Given the description of an element on the screen output the (x, y) to click on. 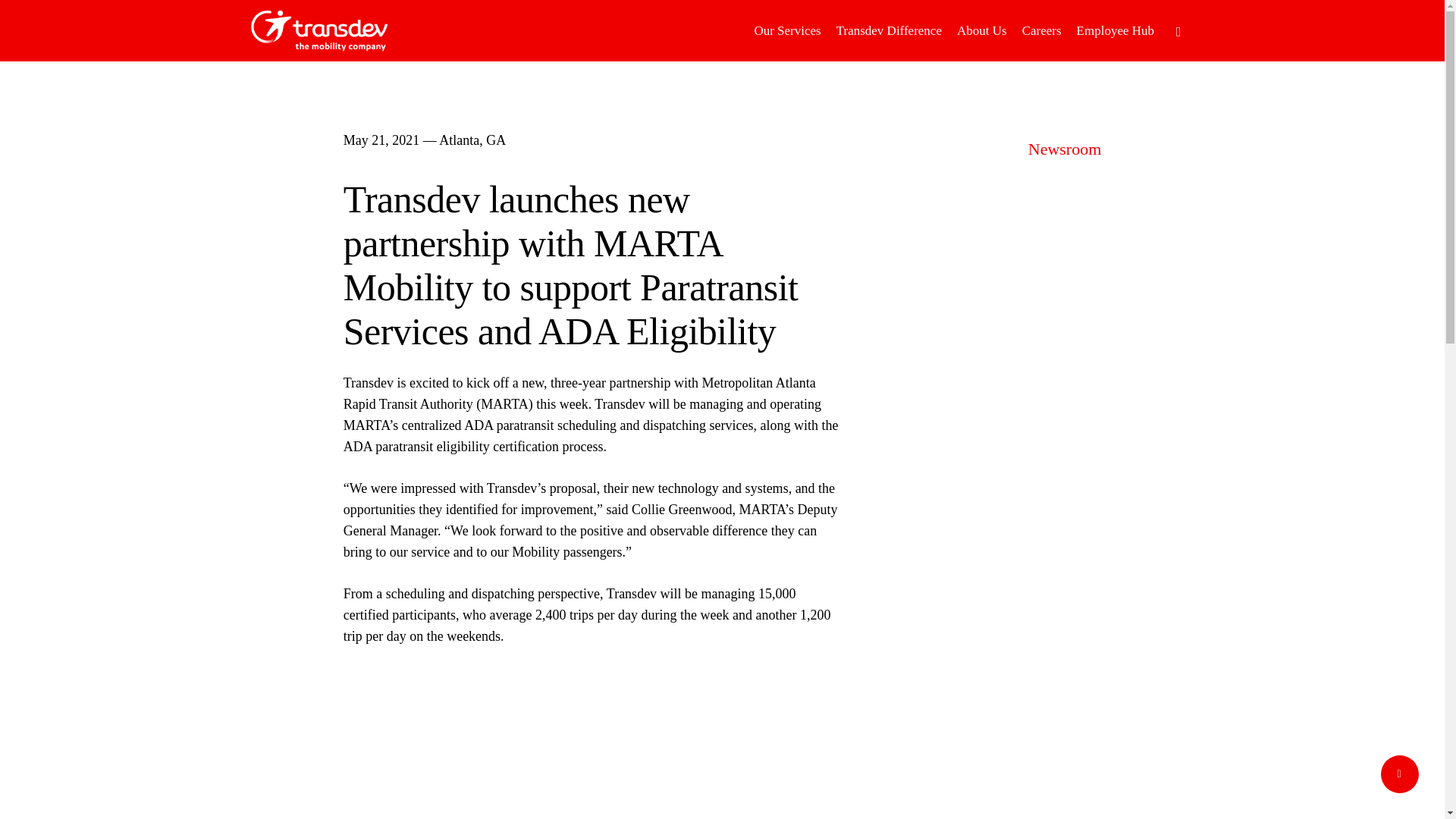
Our Services (786, 31)
Employee Hub (1114, 31)
Newsroom (1064, 148)
Careers (1041, 31)
About Us (981, 31)
Transdev Difference (888, 31)
